Given the description of an element on the screen output the (x, y) to click on. 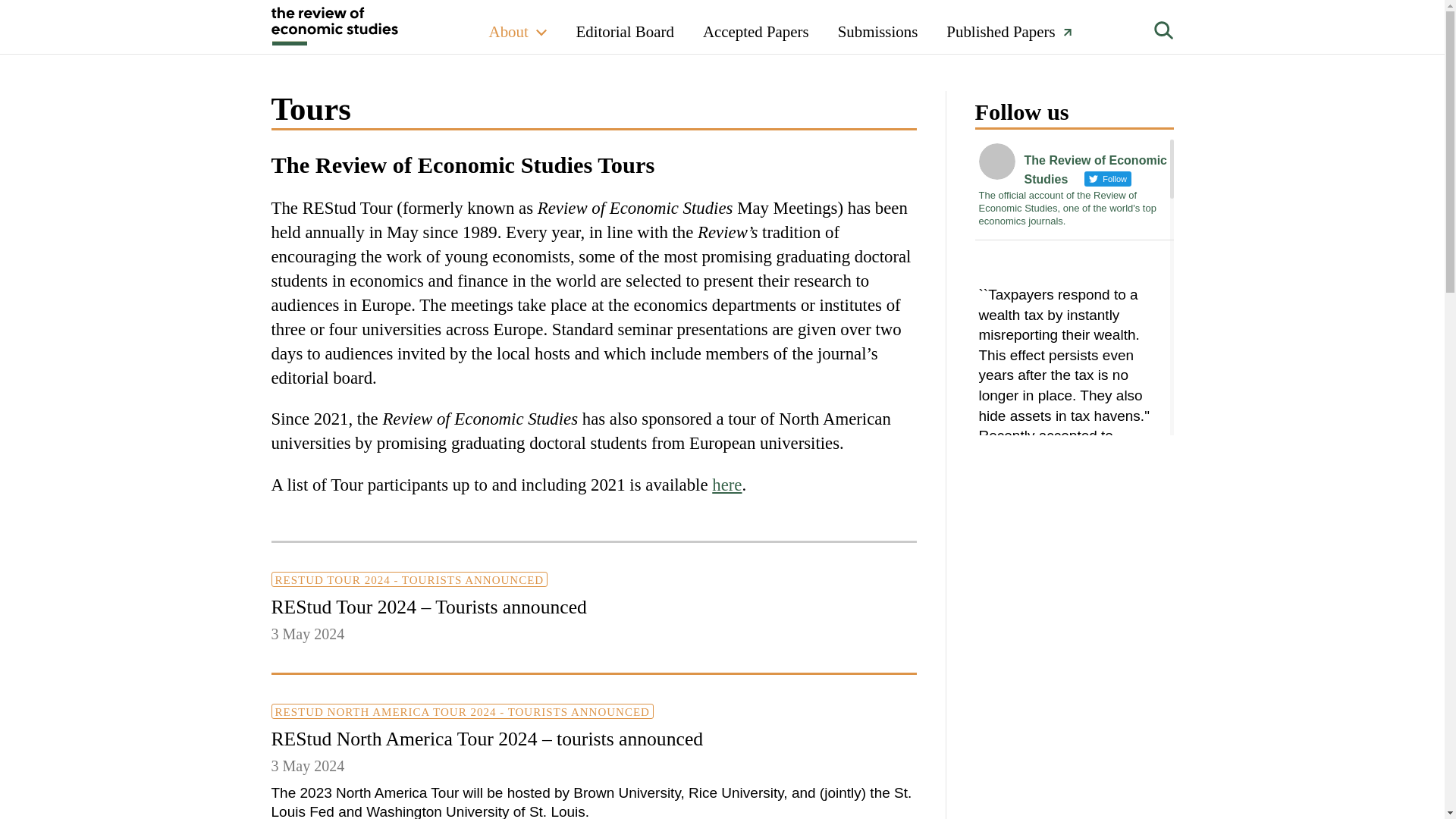
Published Papers (1003, 27)
Submissions (878, 27)
Editorial Board (623, 27)
Accepted Papers (756, 27)
here (726, 484)
About (508, 27)
